Given the description of an element on the screen output the (x, y) to click on. 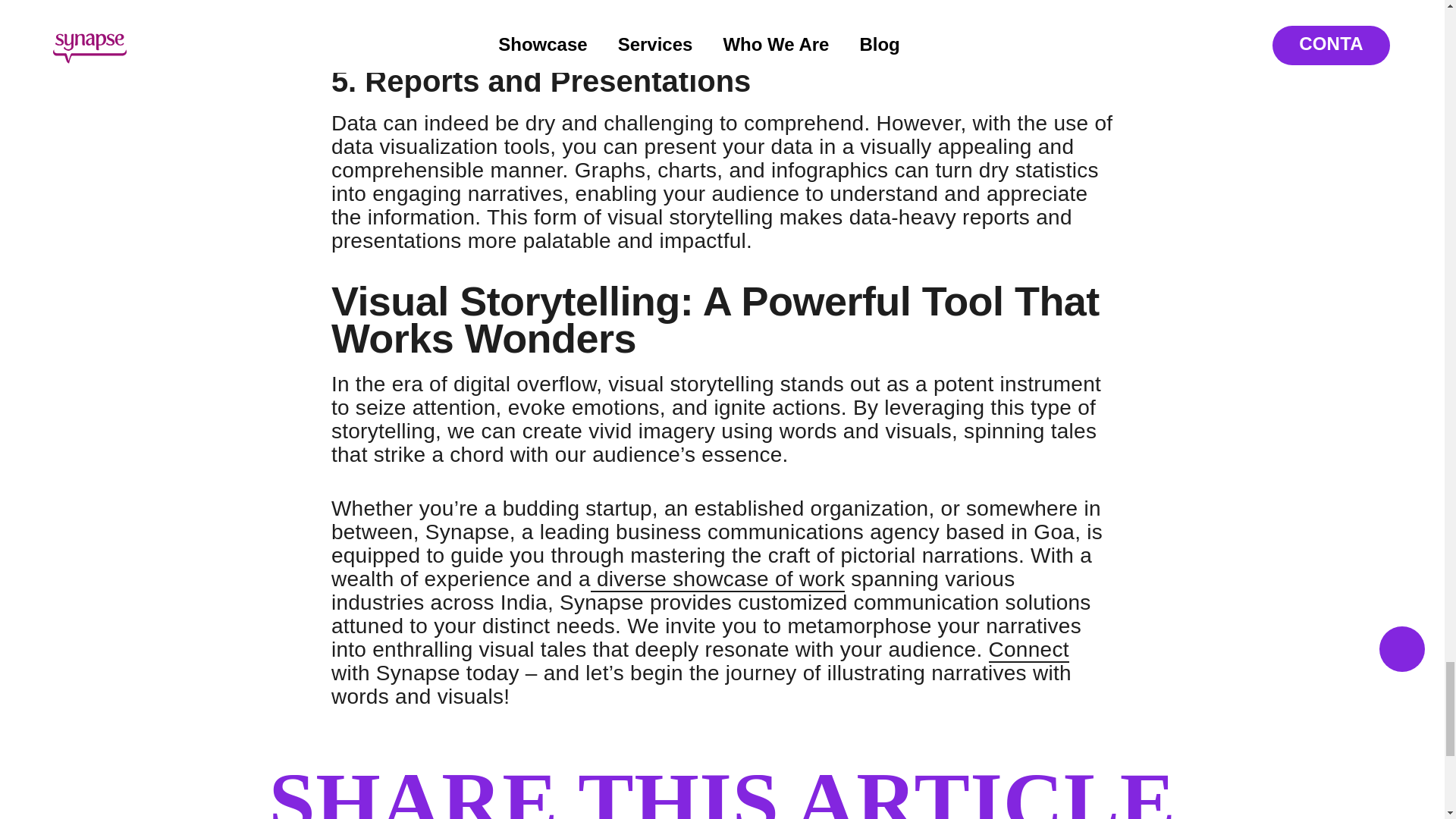
diverse showcase of work (717, 578)
Connect (1028, 650)
